Given the description of an element on the screen output the (x, y) to click on. 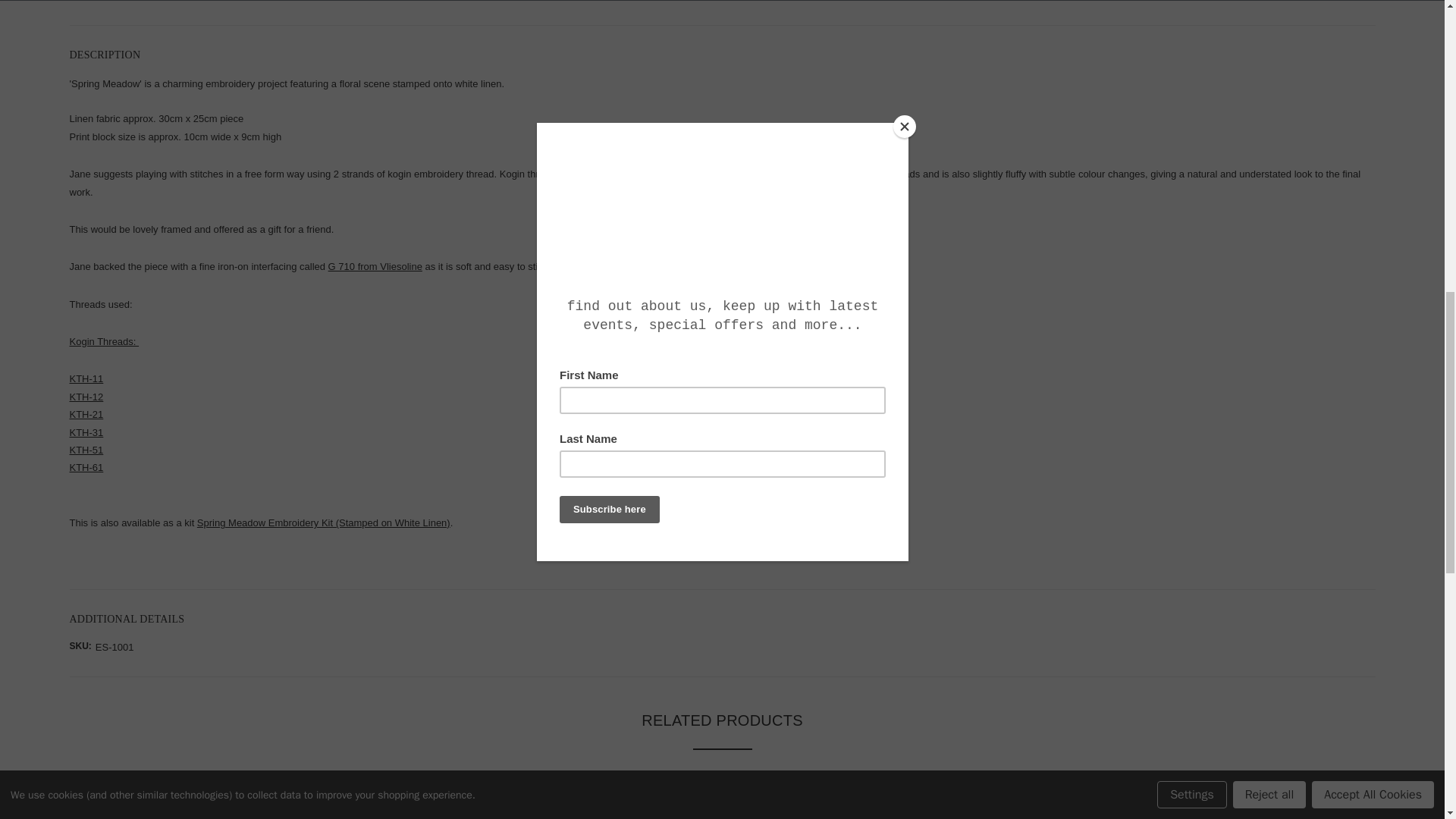
Stamped tree on linen with kogin threads (501, 805)
Spring Meadow completed embroidery project  (281, 805)
Essential Sashiko - A book by Boutique-Sha (1164, 805)
Kogin Fine Linen Pack - Natural - KF-3500-1001 (722, 805)
